Given the description of an element on the screen output the (x, y) to click on. 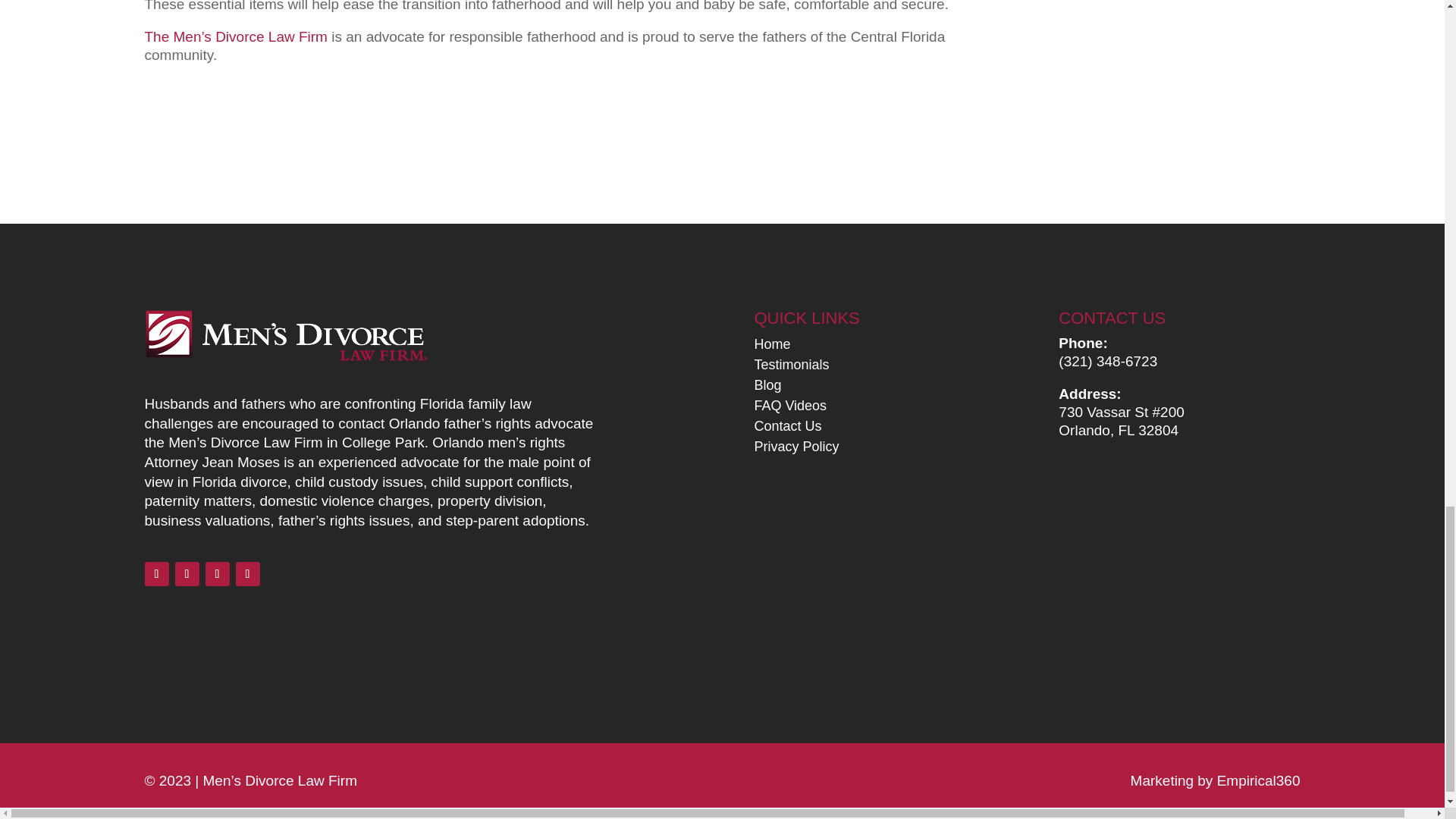
mens-divorce-law-firm-logo (285, 336)
Follow on LinkedIn (186, 573)
Follow on Instagram (246, 573)
Follow on Facebook (156, 573)
Follow on Youtube (216, 573)
